Given the description of an element on the screen output the (x, y) to click on. 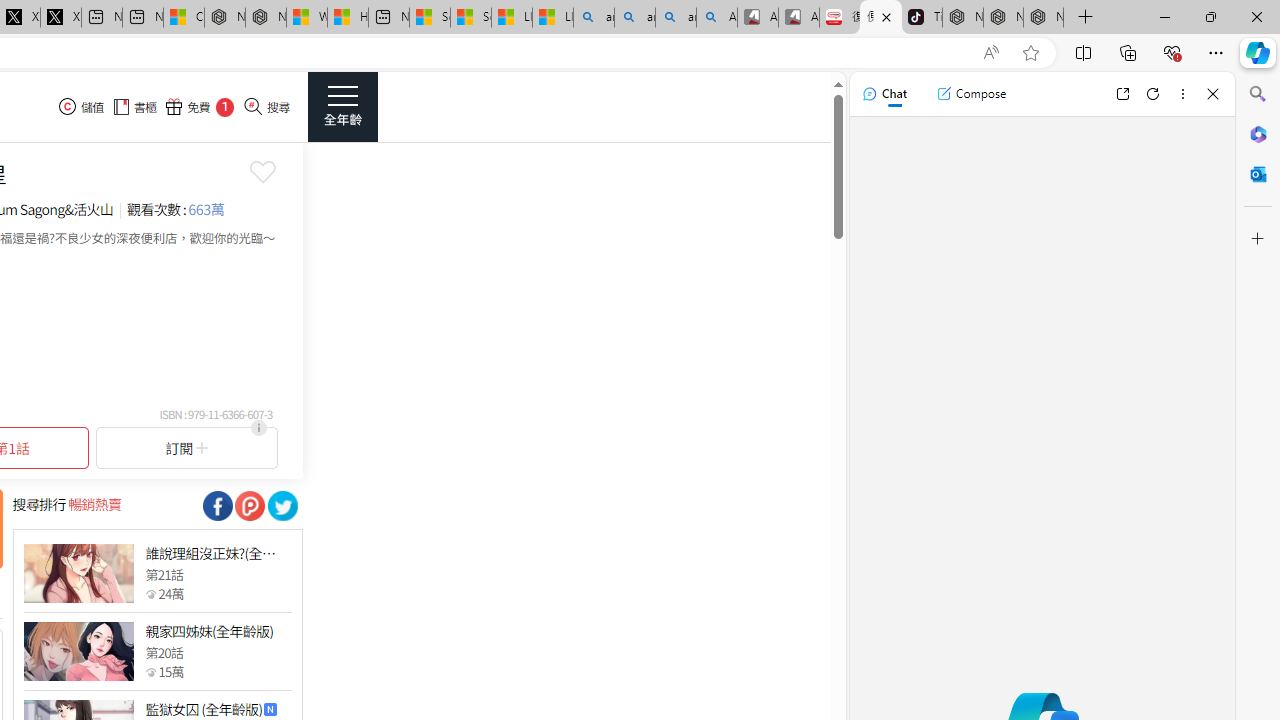
Chat (884, 93)
Settings and more (Alt+F) (1215, 52)
Nordace - Siena Pro 15 Essential Set (1043, 17)
Split screen (1083, 52)
Customize (1258, 239)
Browser essentials (1171, 52)
Minimize (1164, 16)
Class: thumb_img (78, 651)
Nordace Siena Pro 15 Backpack (1003, 17)
